Given the description of an element on the screen output the (x, y) to click on. 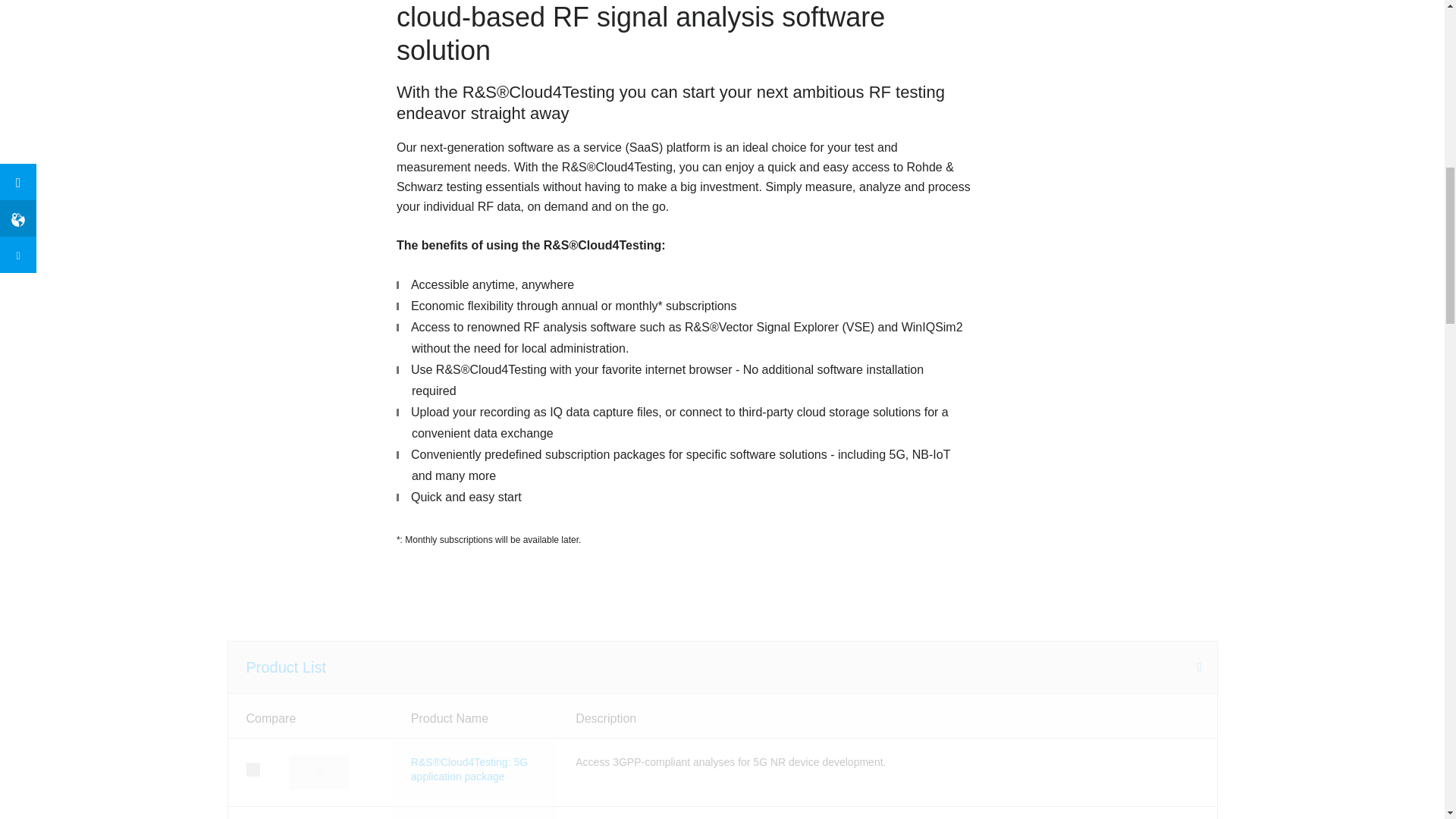
Compare (309, 715)
Description (886, 715)
Product Name (475, 715)
